Given the description of an element on the screen output the (x, y) to click on. 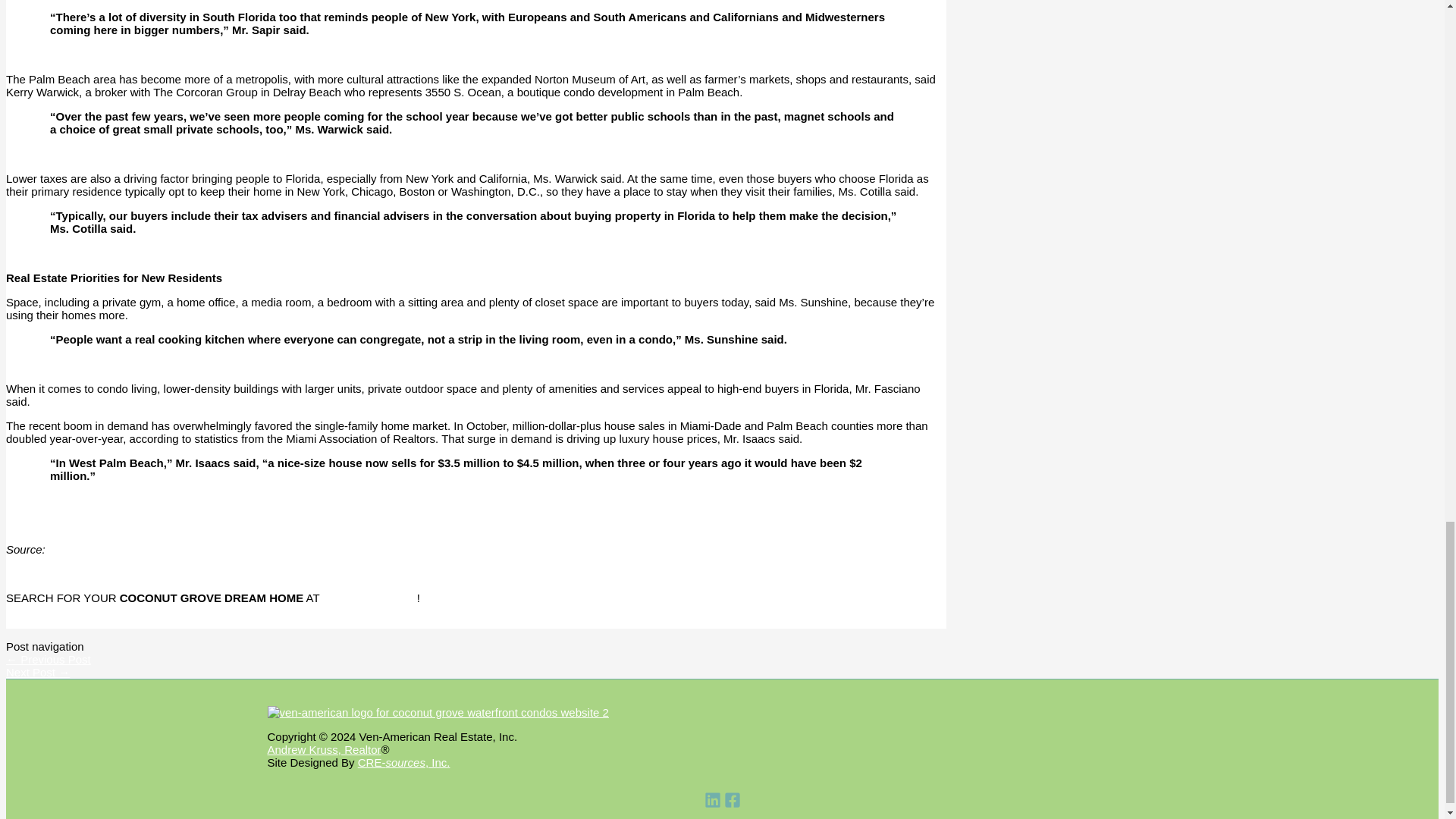
CocoWalk Welcomes Eight New Retailers (47, 658)
Mansion Global (90, 549)
Andrew Kruss, Realtor (323, 748)
CRE-sources, Inc. (403, 762)
GROVEGUY.COM (369, 597)
